Given the description of an element on the screen output the (x, y) to click on. 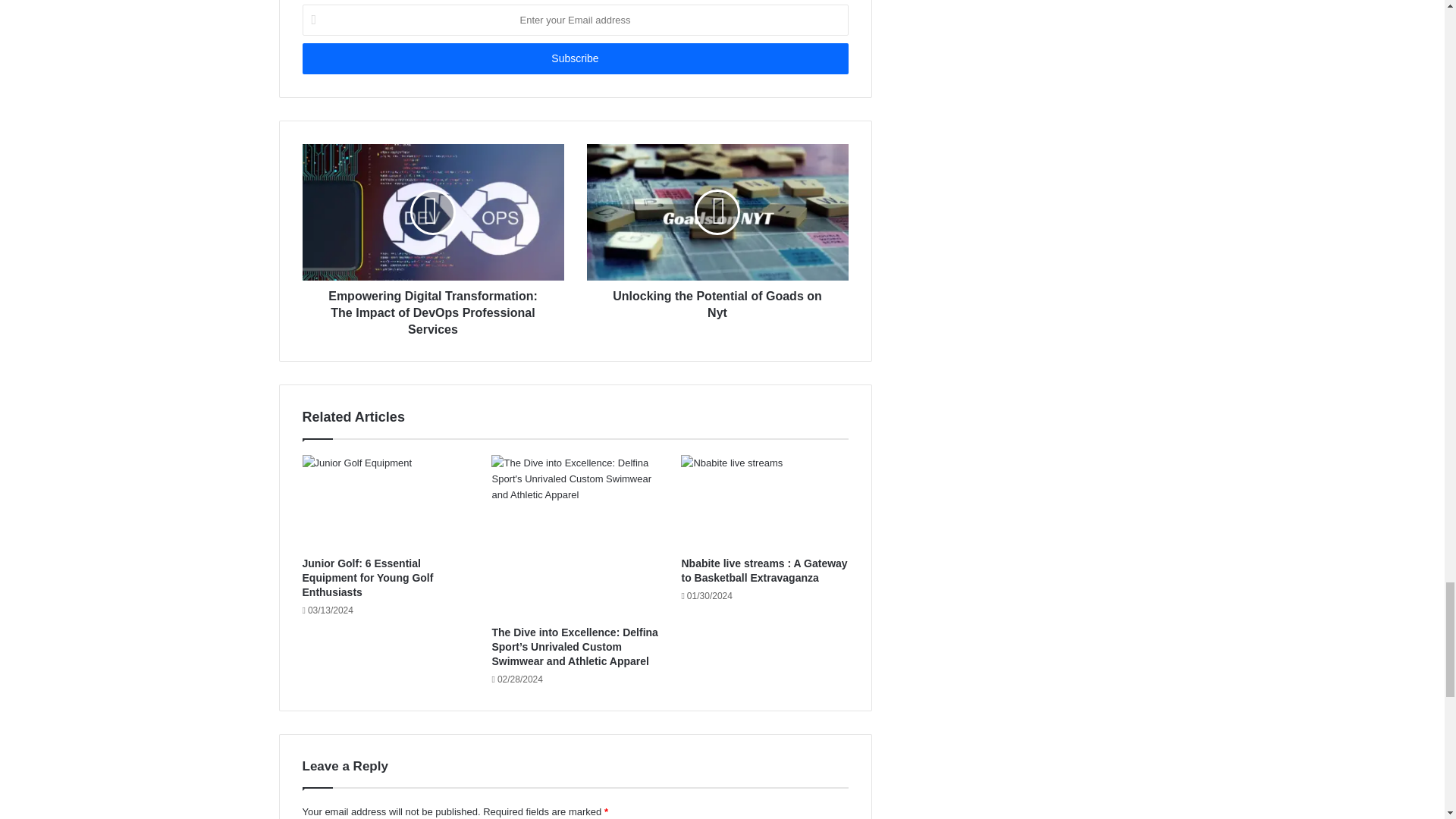
Subscribe (574, 58)
